Given the description of an element on the screen output the (x, y) to click on. 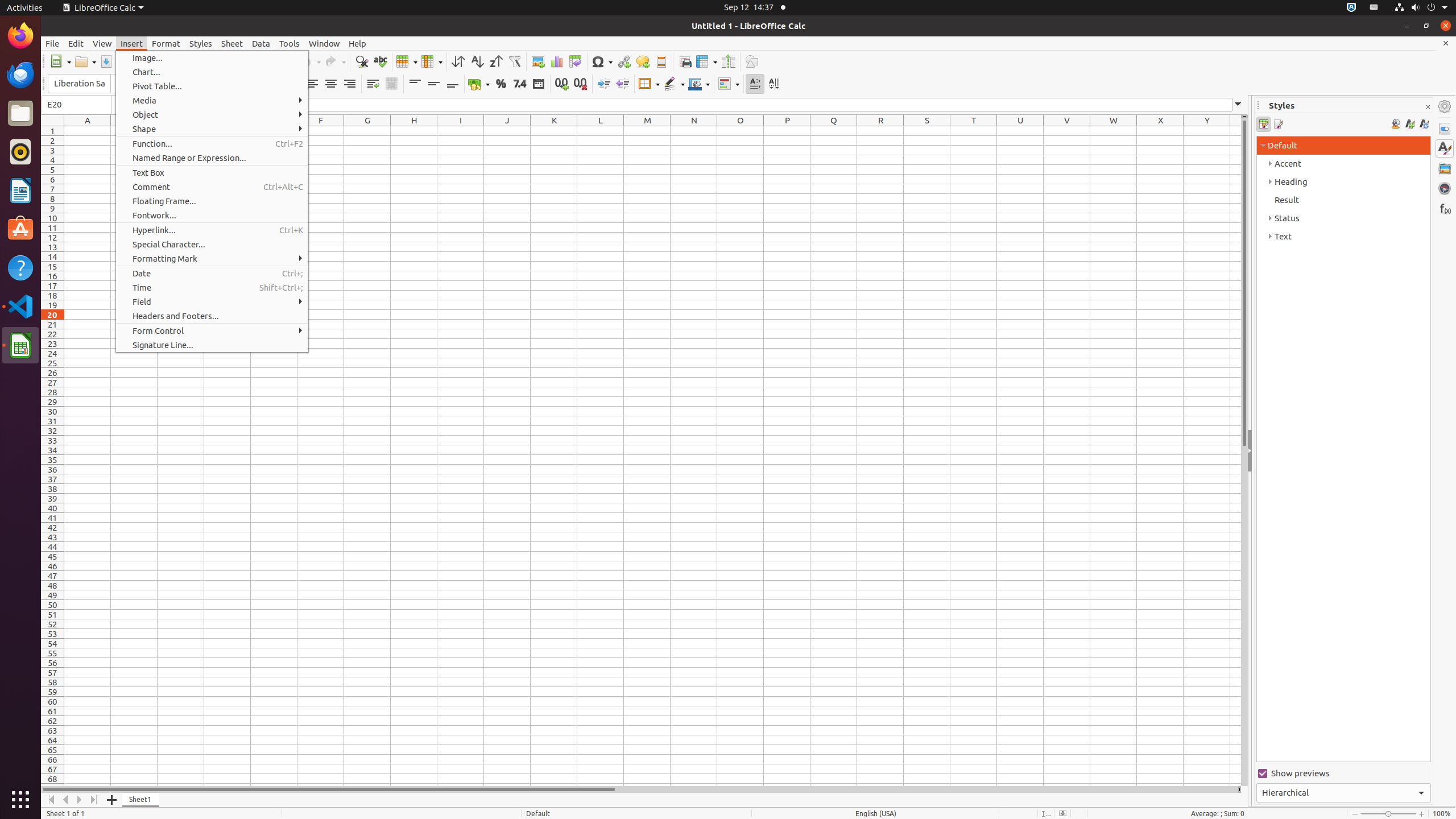
O1 Element type: table-cell (740, 130)
Sheet1 Element type: page-tab (140, 799)
G1 Element type: table-cell (367, 130)
R1 Element type: table-cell (880, 130)
Help Element type: push-button (20, 267)
